Given the description of an element on the screen output the (x, y) to click on. 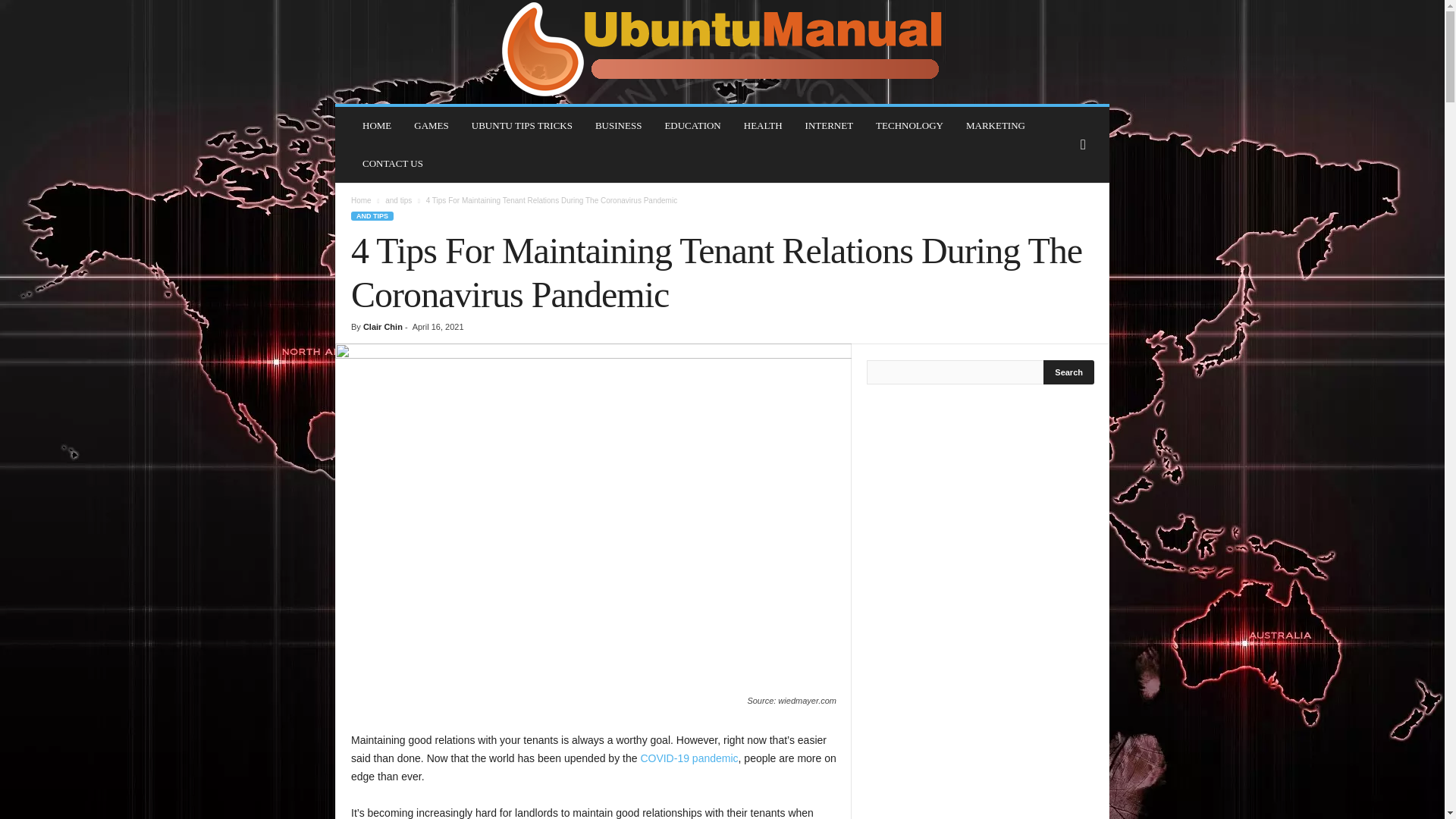
MARKETING (995, 125)
HOME (376, 125)
UBUNTU TIPS TRICKS (521, 125)
Ubuntu Manual (721, 52)
CONTACT US (391, 163)
Home (360, 200)
GAMES (431, 125)
Clair Chin (382, 326)
Search (1068, 372)
